Given the description of an element on the screen output the (x, y) to click on. 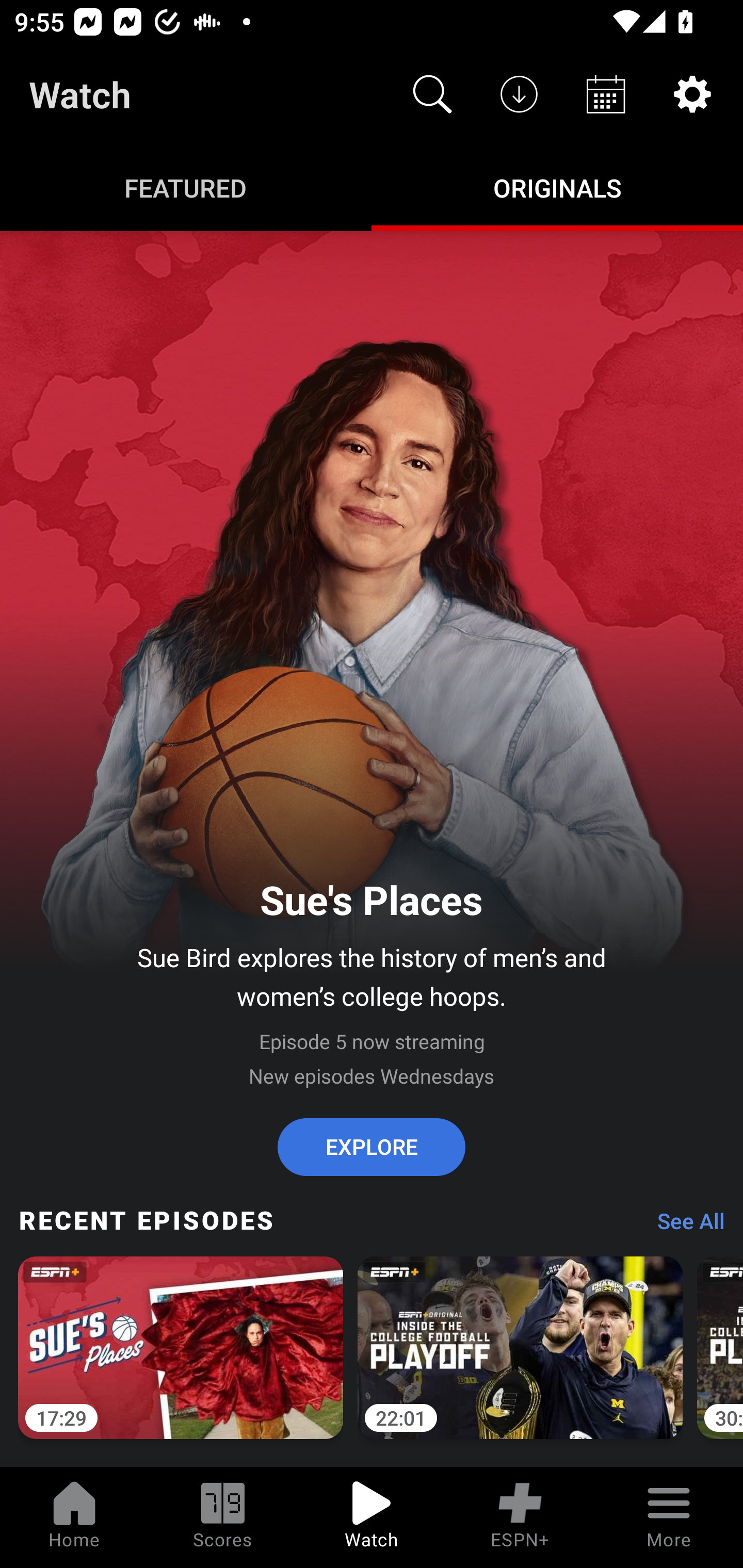
Search (432, 93)
Downloads (518, 93)
Schedule (605, 93)
Settings (692, 93)
Featured FEATURED (185, 187)
EXPLORE (371, 1146)
See All (683, 1225)
17:29 Bird is the Word (Ep. 5) (180, 1358)
22:01 Nobody Better (Ep. 4) (519, 1358)
Home (74, 1517)
Scores (222, 1517)
ESPN+ (519, 1517)
More (668, 1517)
